Given the description of an element on the screen output the (x, y) to click on. 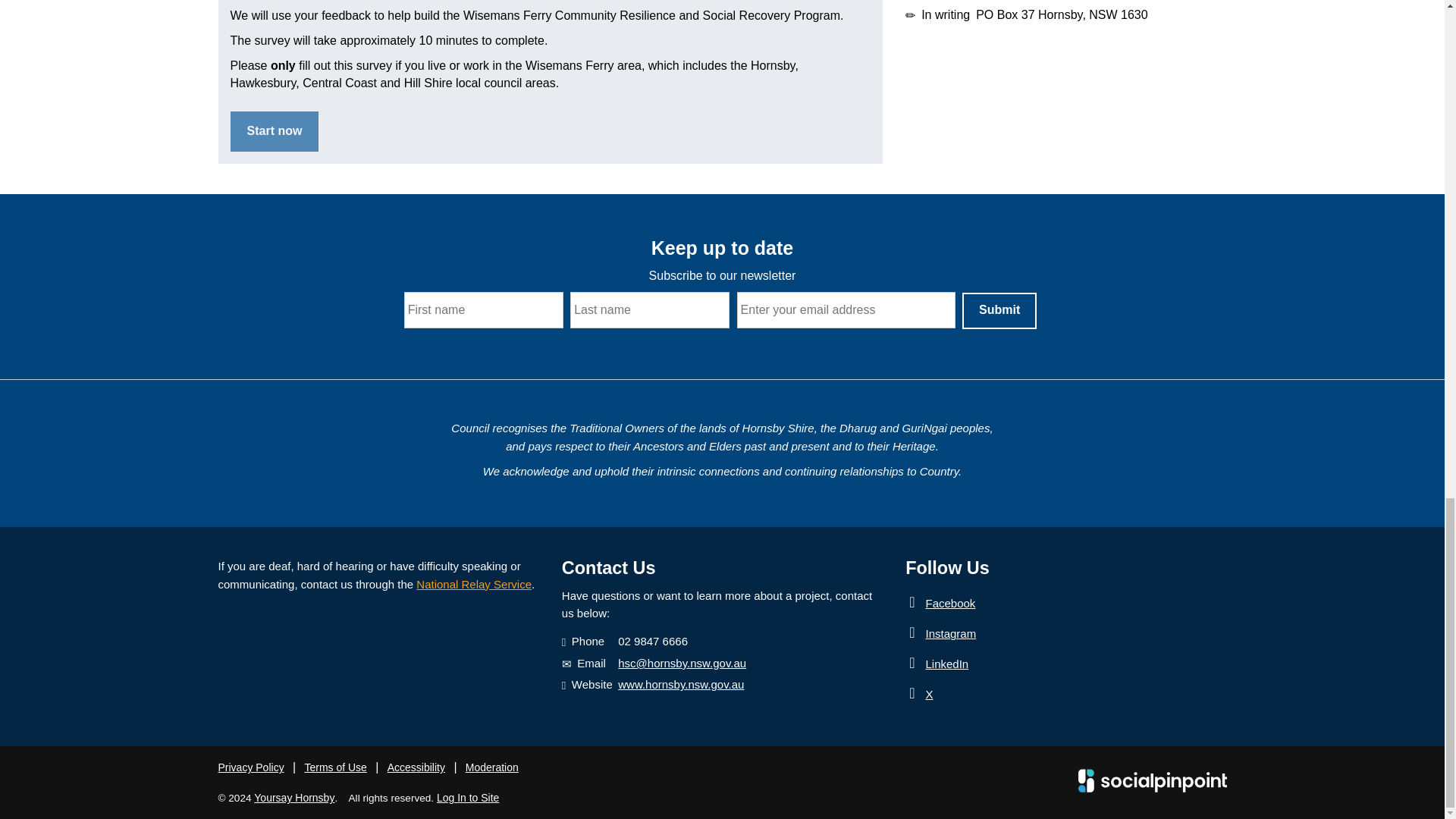
LinkedIn (915, 662)
Facebook (915, 602)
Instagram (915, 632)
X (915, 693)
Start now (274, 130)
